Given the description of an element on the screen output the (x, y) to click on. 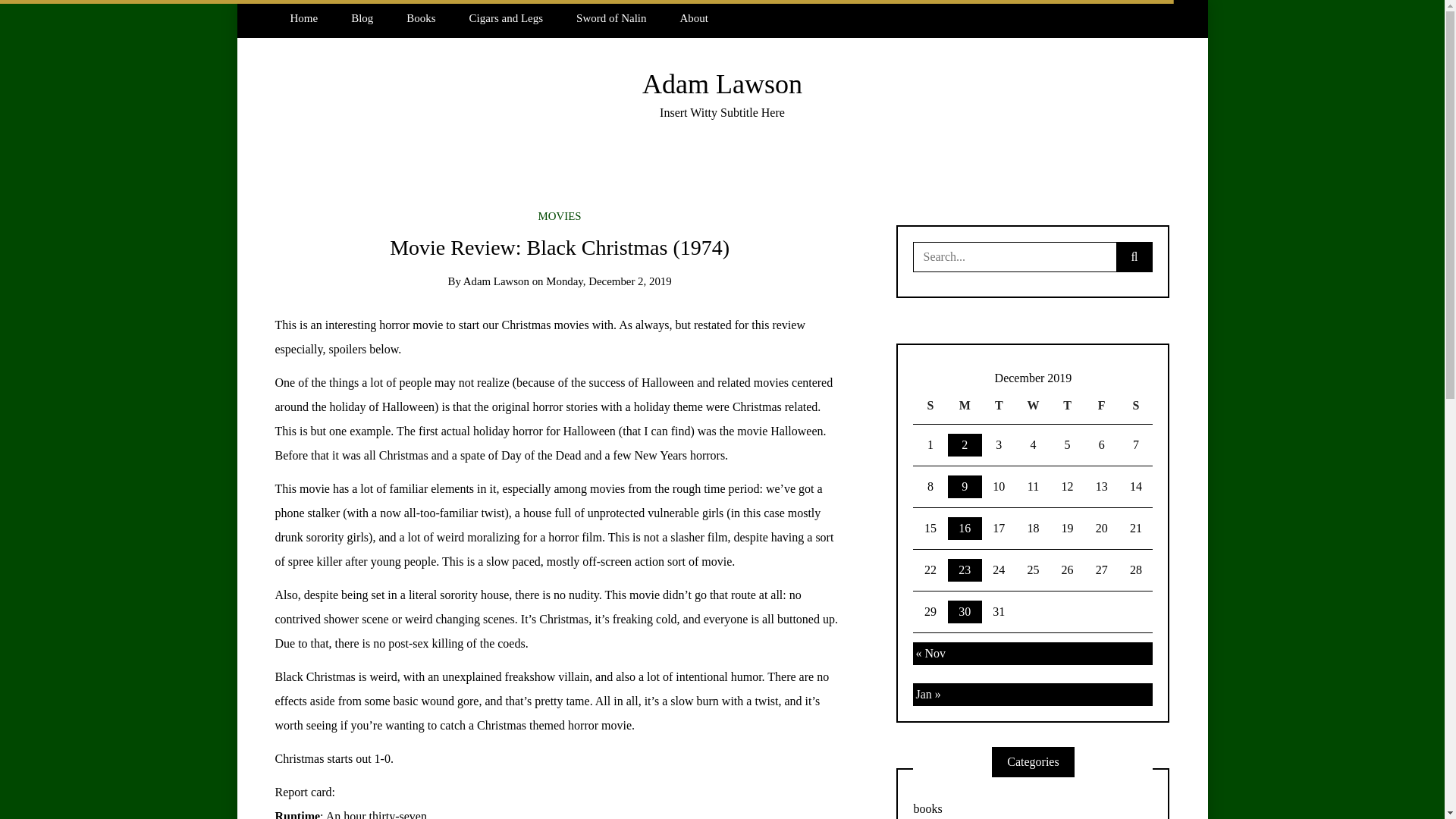
Monday (964, 406)
Posts by Adam Lawson (496, 281)
9 (964, 486)
Adam Lawson (722, 83)
30 (964, 611)
Blog (362, 18)
MOVIES (559, 215)
Books (420, 18)
books (1032, 805)
Wednesday (1032, 406)
16 (964, 527)
Friday (1101, 406)
Search (35, 16)
Thursday (1066, 406)
Monday, December 2, 2019 (608, 281)
